Given the description of an element on the screen output the (x, y) to click on. 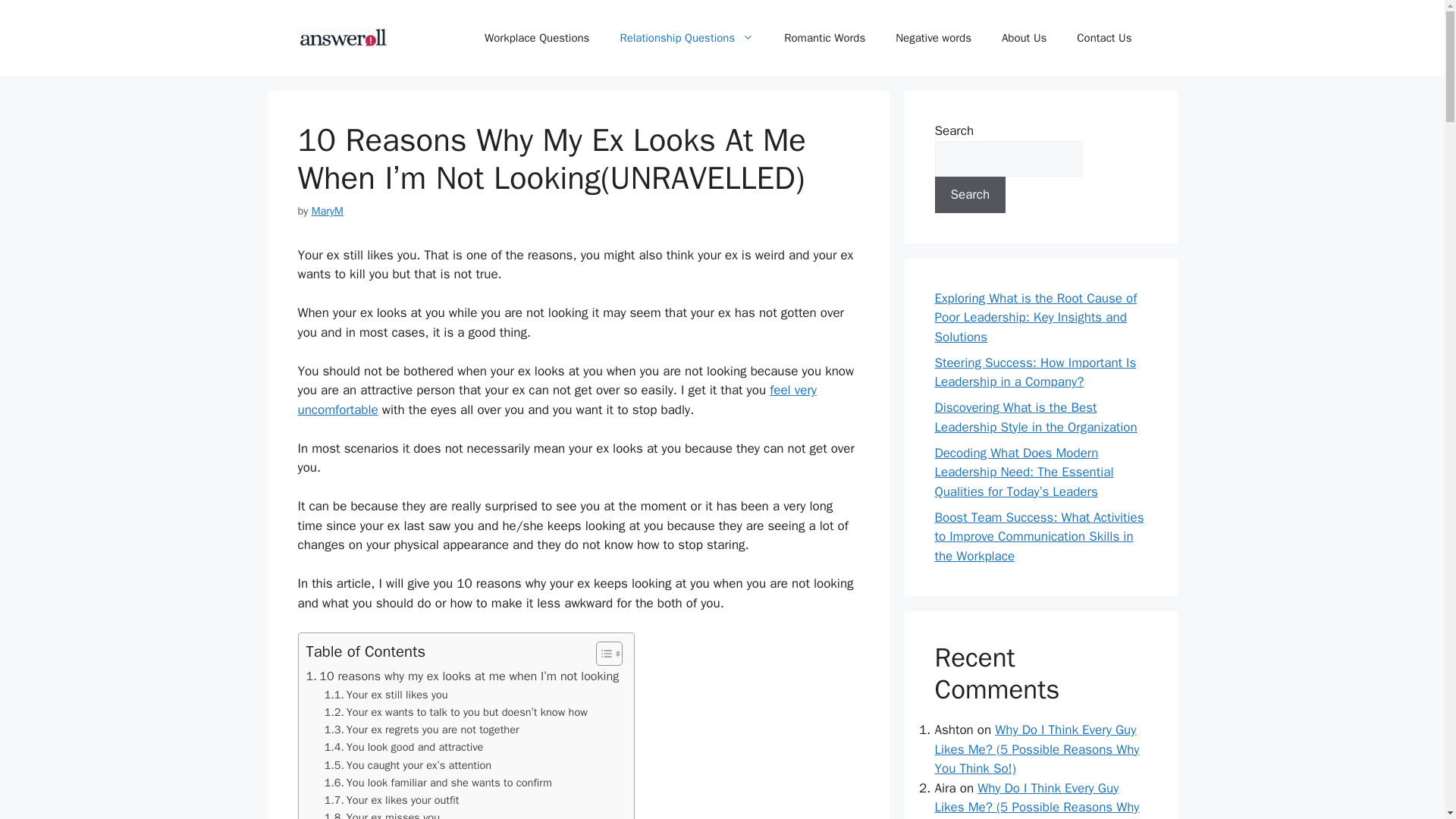
About Us (1024, 37)
feel very uncomfortable (556, 399)
Your ex misses you (381, 814)
View all posts by MaryM (327, 210)
Your ex still likes you (386, 694)
You look familiar and she wants to confirm  (439, 782)
Your ex misses you (381, 814)
